Given the description of an element on the screen output the (x, y) to click on. 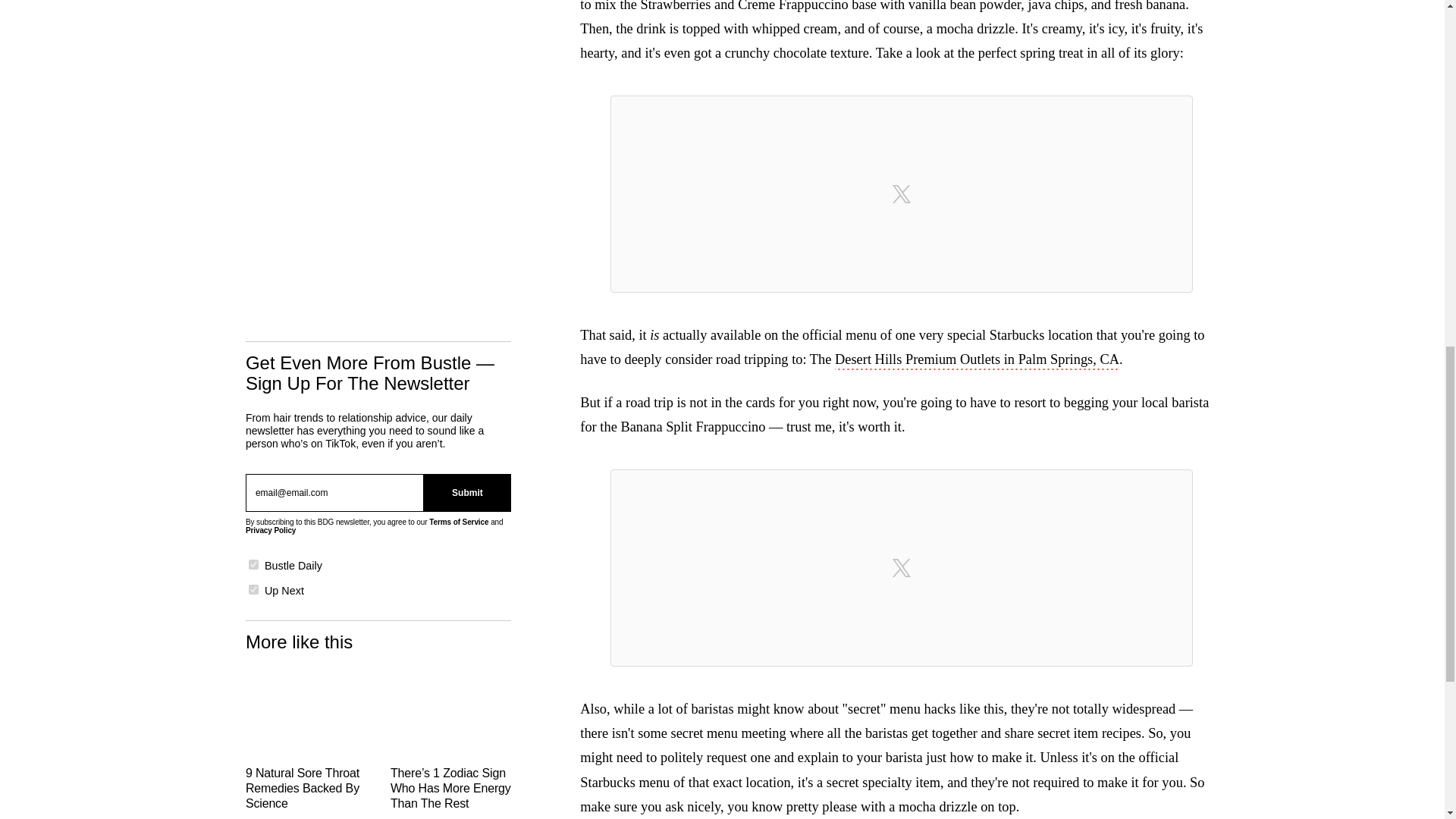
Terms of Service (458, 521)
Desert Hills Premium Outlets in Palm Springs, CA (976, 361)
Submit (467, 492)
Privacy Policy (270, 530)
